Given the description of an element on the screen output the (x, y) to click on. 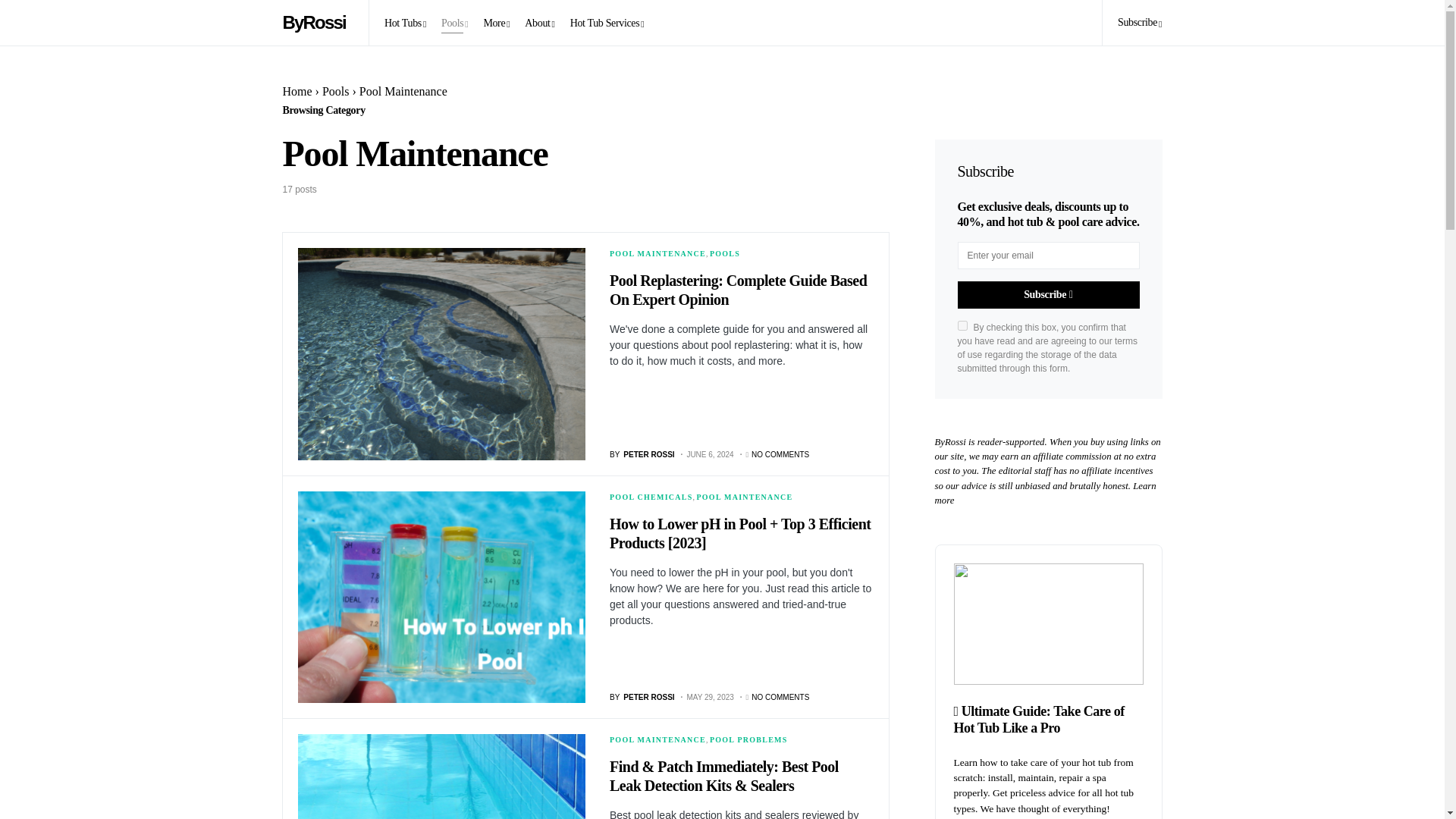
Pools (454, 22)
on (961, 325)
Hot Tubs (405, 22)
View all posts by Peter Rossi (642, 454)
ByRossi (317, 22)
View all posts by Peter Rossi (642, 696)
Pools (335, 91)
Home (296, 91)
